Given the description of an element on the screen output the (x, y) to click on. 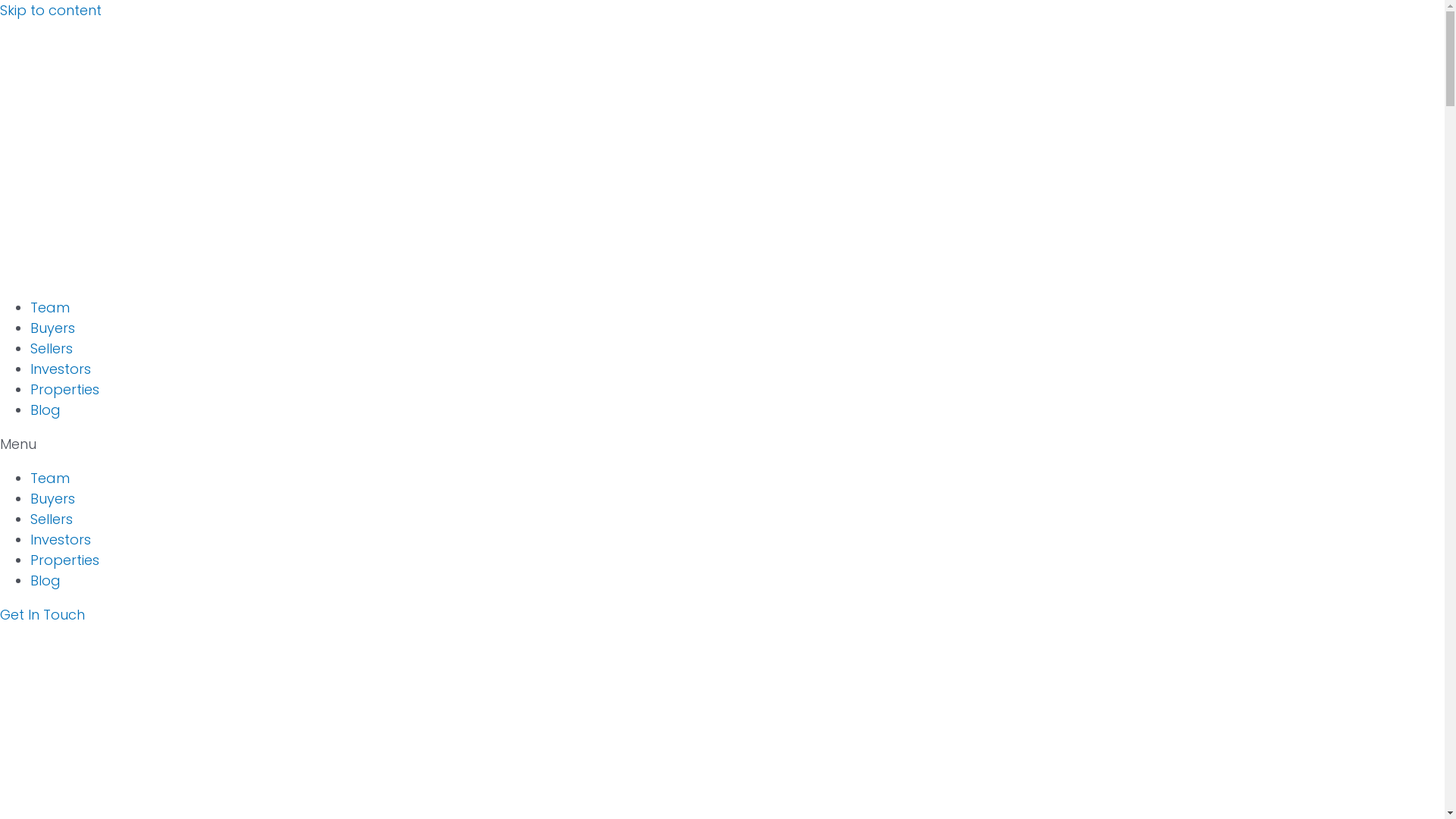
Investors Element type: text (60, 368)
Sellers Element type: text (51, 518)
Sellers Element type: text (51, 347)
Properties Element type: text (64, 559)
Get In Touch Element type: text (42, 614)
Buyers Element type: text (52, 327)
Buyers Element type: text (52, 498)
Skip to content Element type: text (50, 9)
Properties Element type: text (64, 388)
Blog Element type: text (45, 580)
Team Element type: text (49, 307)
Blog Element type: text (45, 409)
Investors Element type: text (60, 539)
Team Element type: text (49, 477)
